Given the description of an element on the screen output the (x, y) to click on. 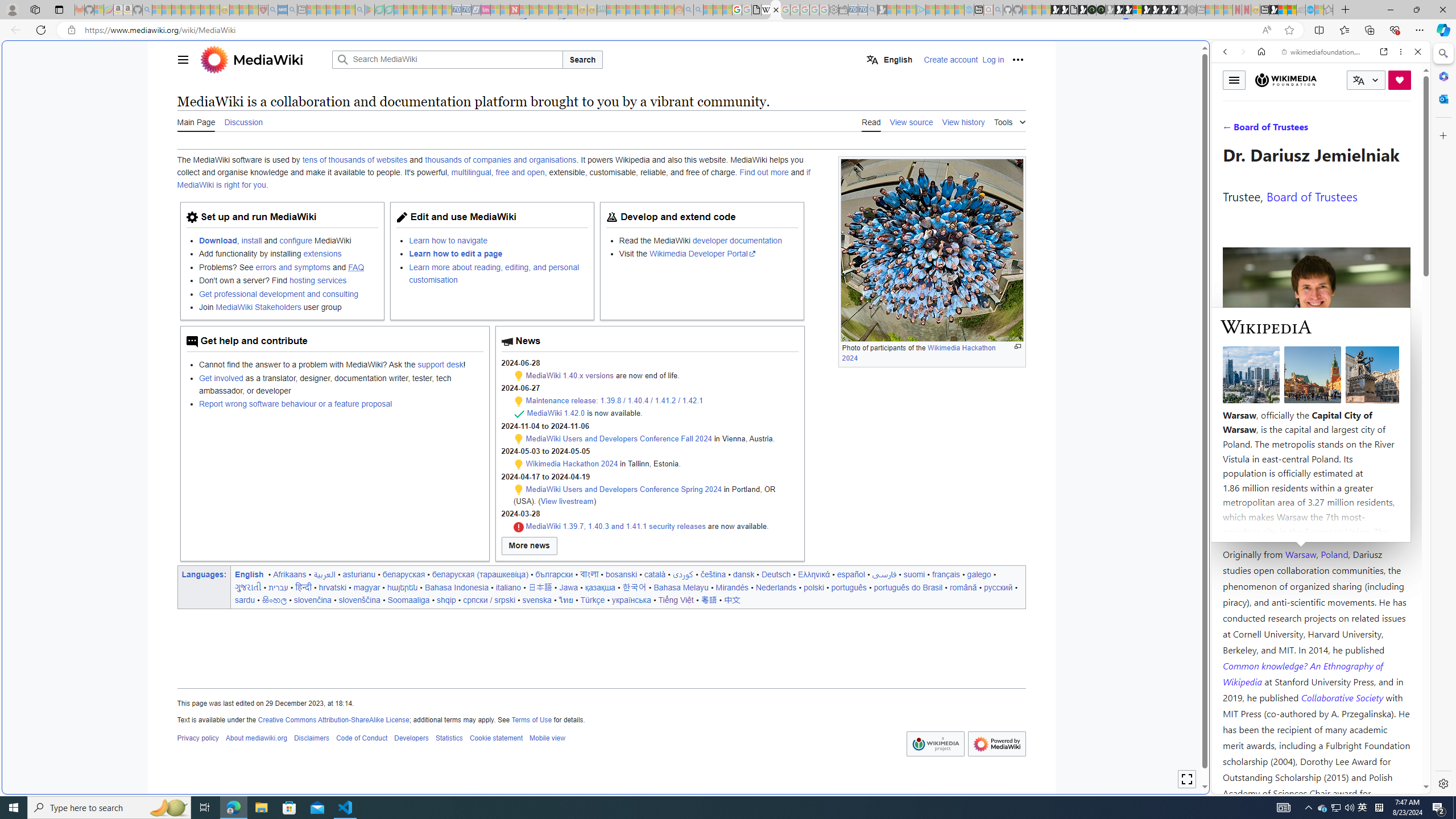
svenska (536, 599)
Search or enter web address (922, 108)
Toggle menu (1233, 80)
utah sues federal government - Search - Sleeping (291, 9)
Main Page (195, 120)
install (251, 239)
if MediaWiki is right for you (493, 178)
Nederlands (775, 587)
Privacy policy (197, 738)
